Given the description of an element on the screen output the (x, y) to click on. 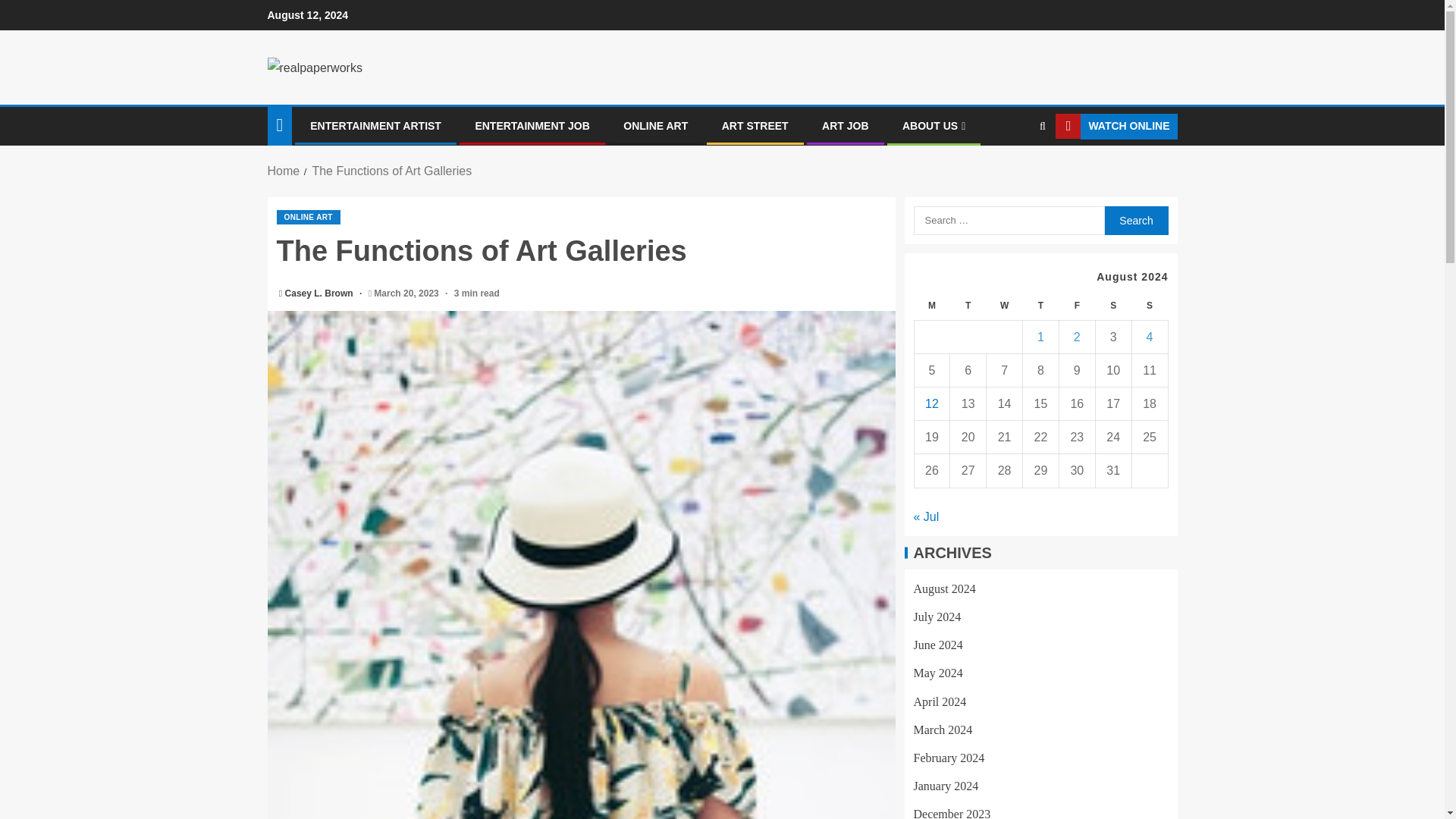
Search (1135, 220)
Wednesday (1005, 305)
ONLINE ART (307, 216)
Search (1135, 220)
Home (282, 170)
ART JOB (844, 125)
The Functions of Art Galleries (391, 170)
Thursday (1041, 305)
Monday (932, 305)
WATCH ONLINE (1115, 126)
